Given the description of an element on the screen output the (x, y) to click on. 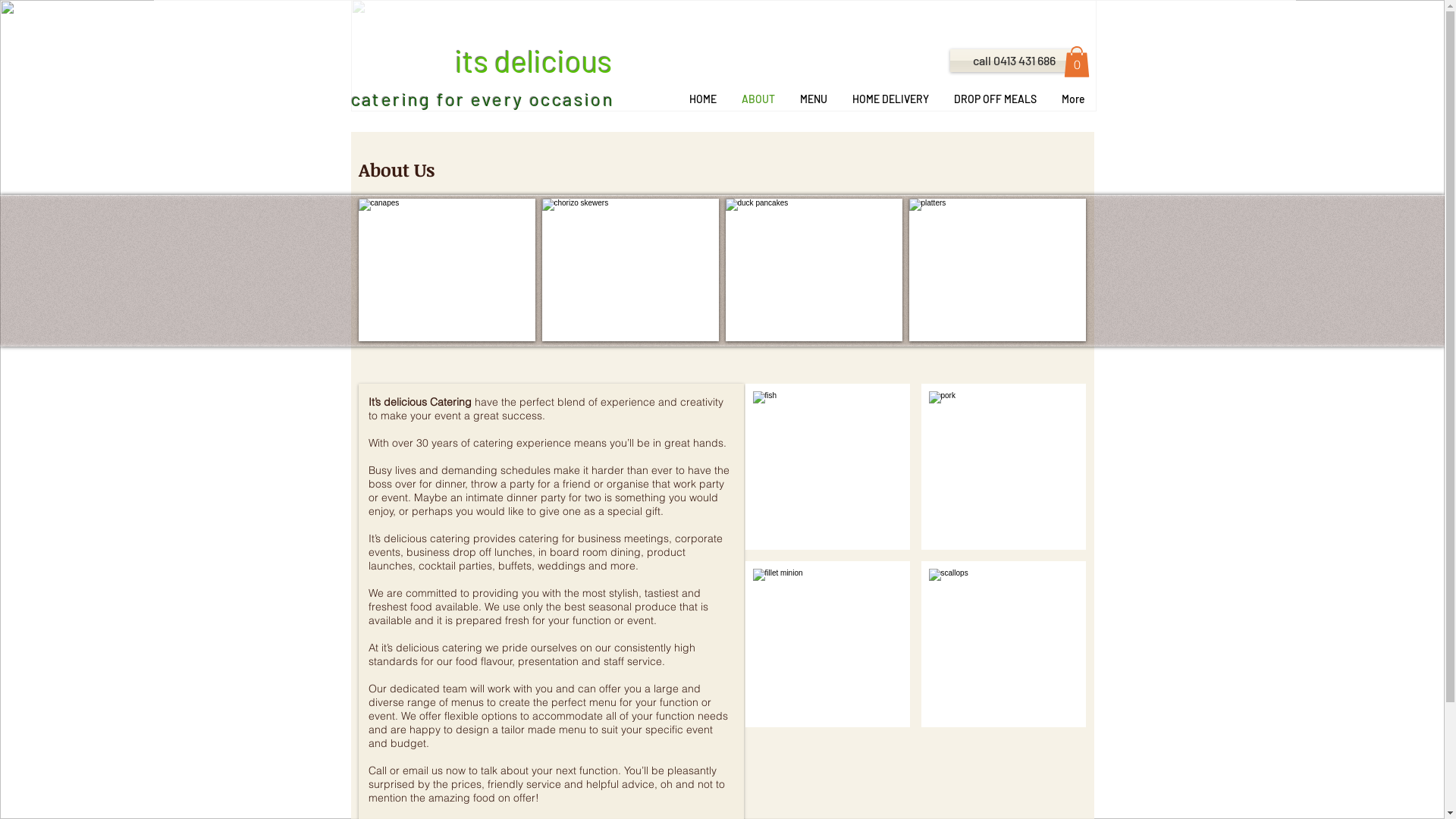
HOME Element type: text (702, 98)
ABOUT Element type: text (758, 98)
DROP OFF MEALS Element type: text (995, 98)
MENU Element type: text (813, 98)
0 Element type: text (1075, 61)
HOME DELIVERY Element type: text (890, 98)
call 0413 431 686 Element type: text (1013, 60)
